Given the description of an element on the screen output the (x, y) to click on. 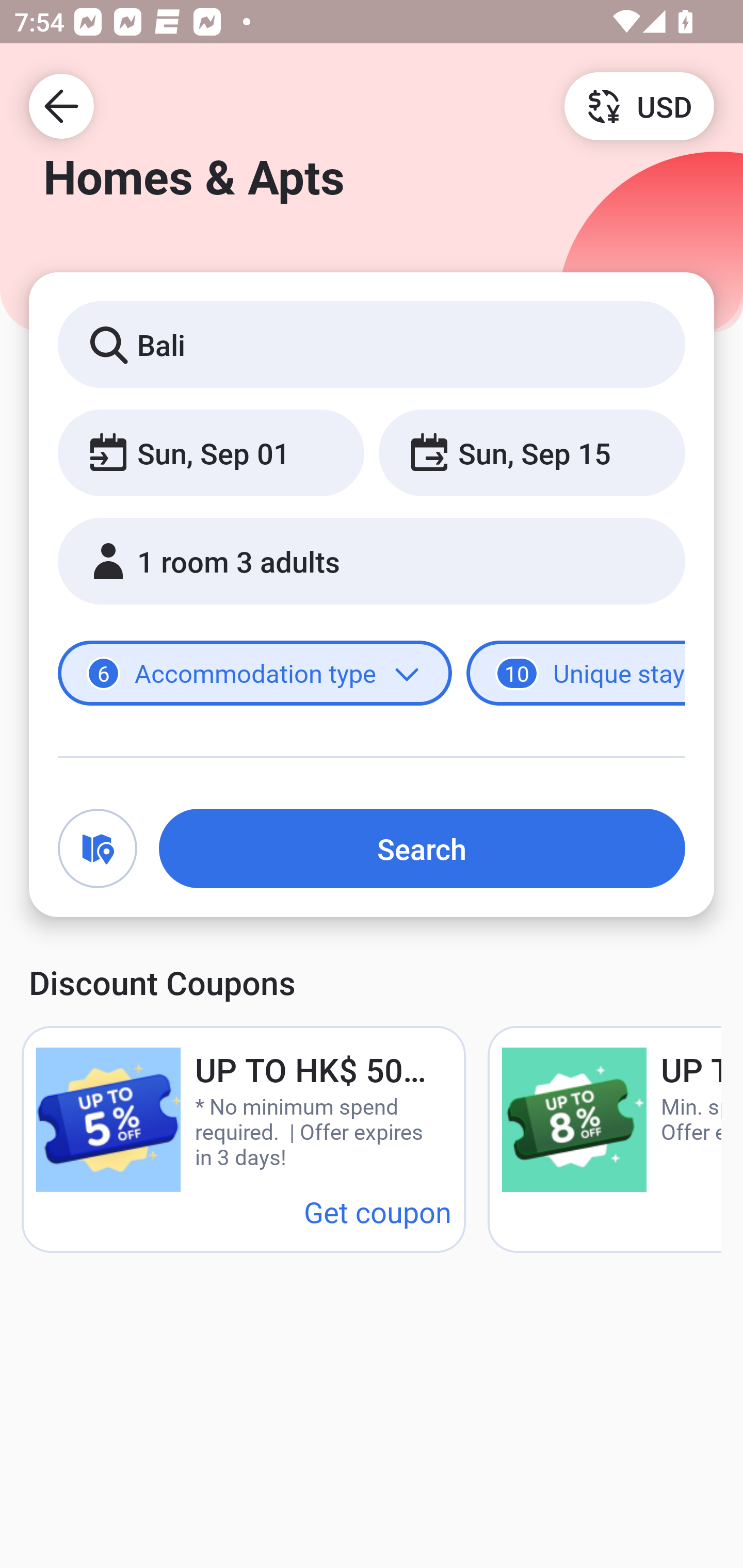
USD (639, 105)
Bali (371, 344)
Sun, Sep 01 (210, 452)
Sun, Sep 15 (531, 452)
1 room 3 adults (371, 561)
6 Accommodation type (254, 673)
10 Unique stays (575, 673)
Search (422, 848)
Get coupon (377, 1211)
